Given the description of an element on the screen output the (x, y) to click on. 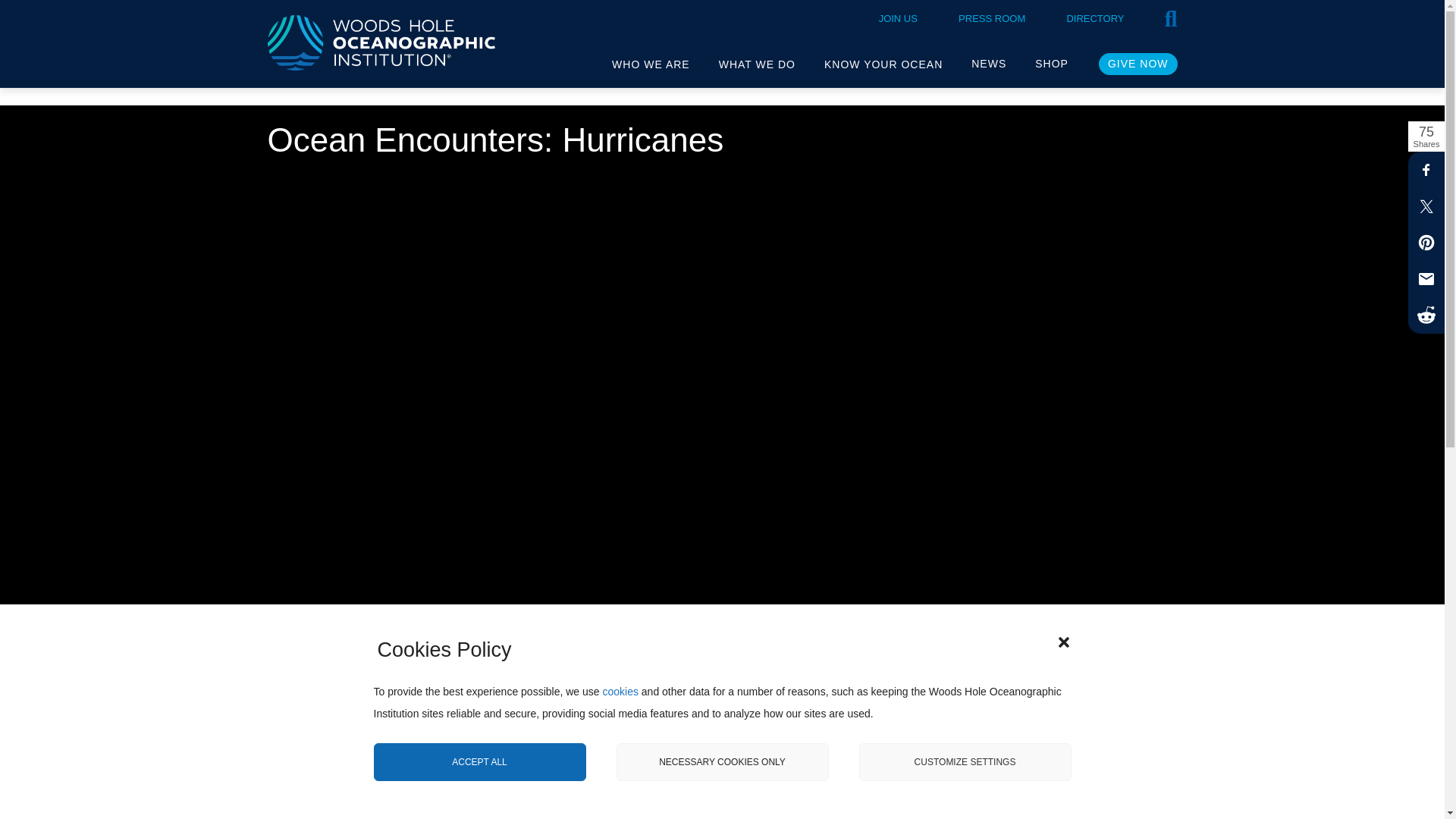
NECESSARY COOKIES ONLY (721, 774)
cookies (619, 743)
PRESS ROOM (988, 13)
CUSTOMIZE SETTINGS (964, 770)
WHO WE ARE (650, 64)
DIRECTORY (1090, 13)
JOIN US (894, 13)
ACCEPT ALL (478, 775)
